Given the description of an element on the screen output the (x, y) to click on. 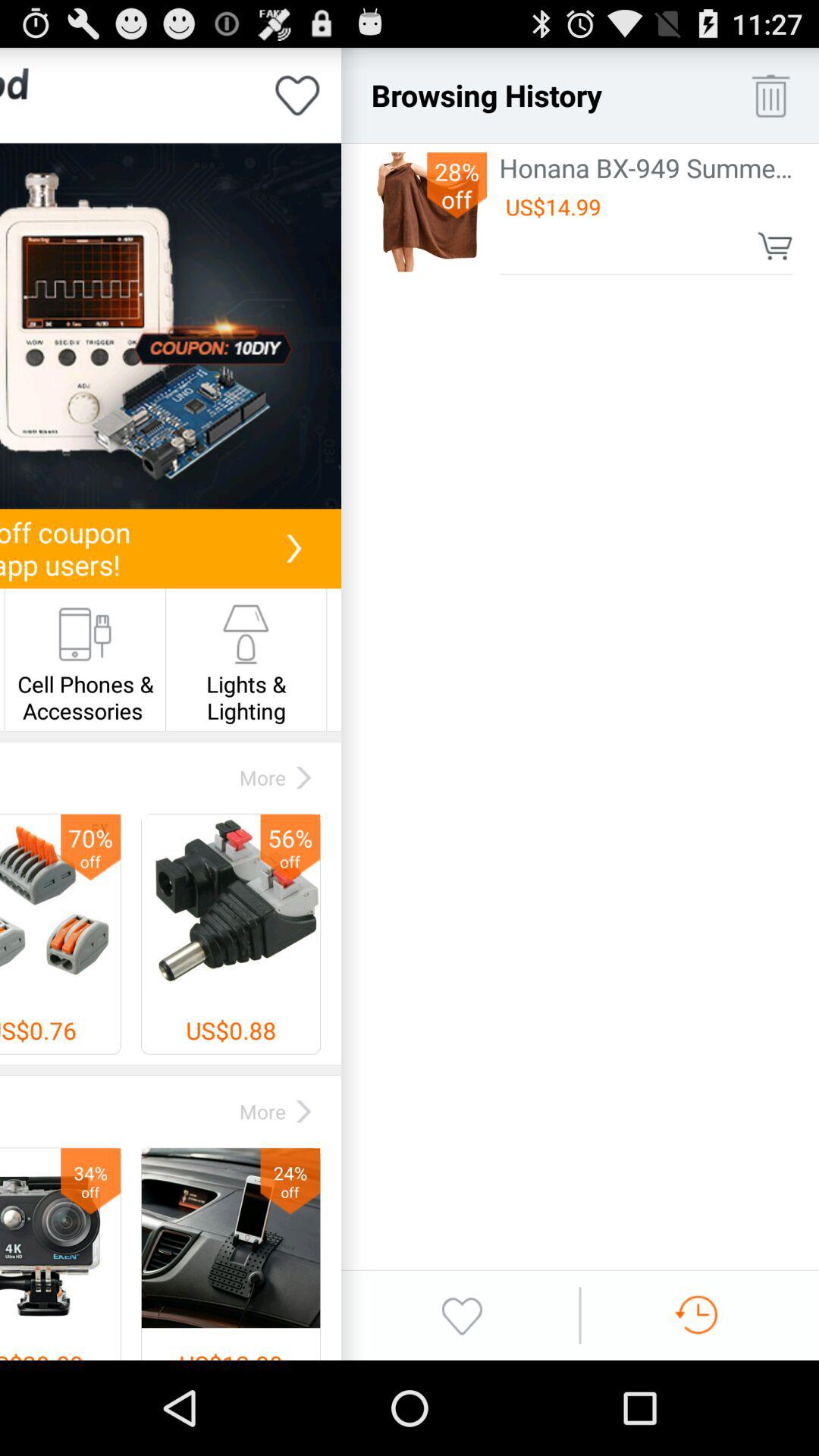
delete browsing history (770, 95)
